Given the description of an element on the screen output the (x, y) to click on. 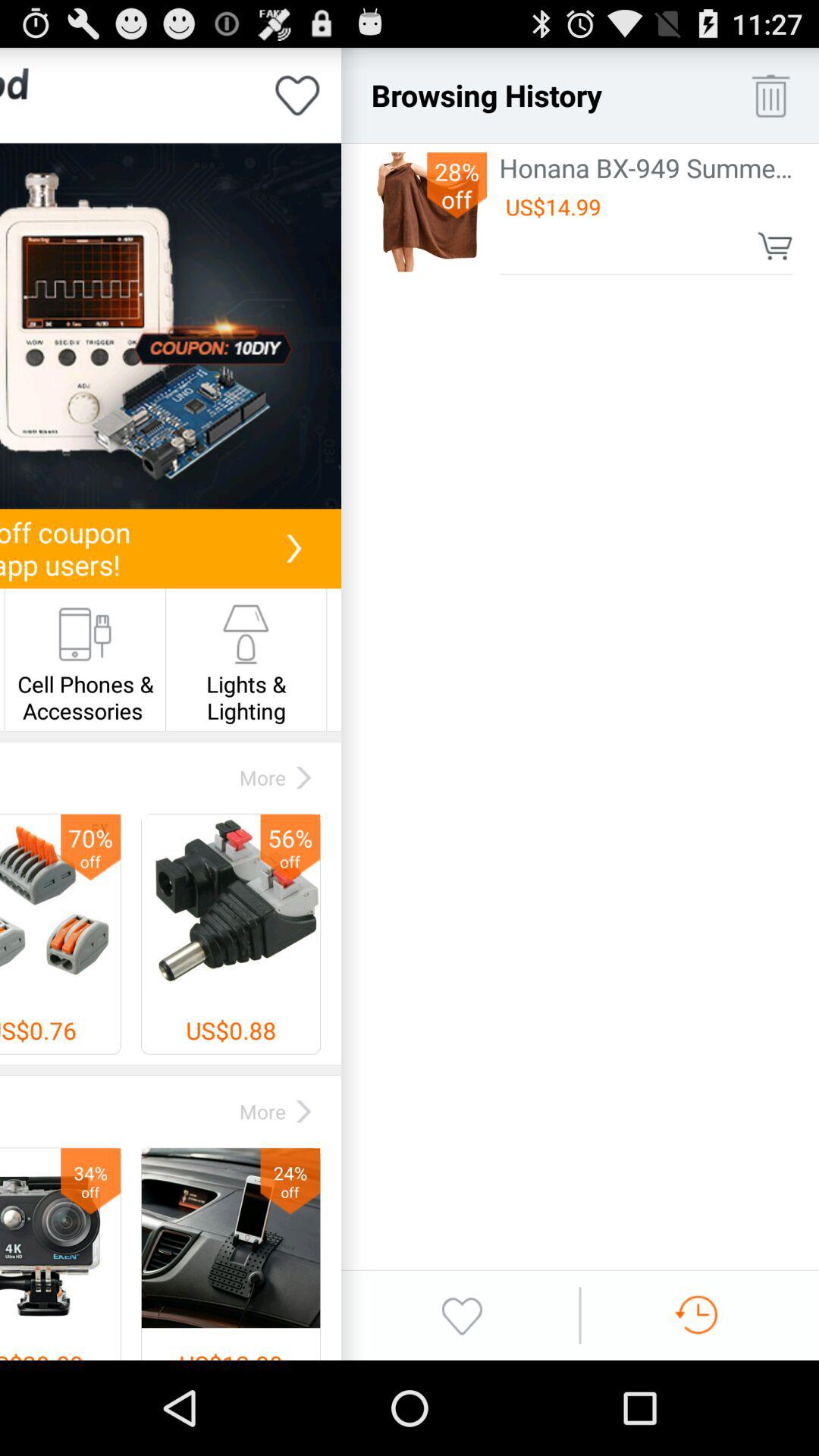
delete browsing history (770, 95)
